Given the description of an element on the screen output the (x, y) to click on. 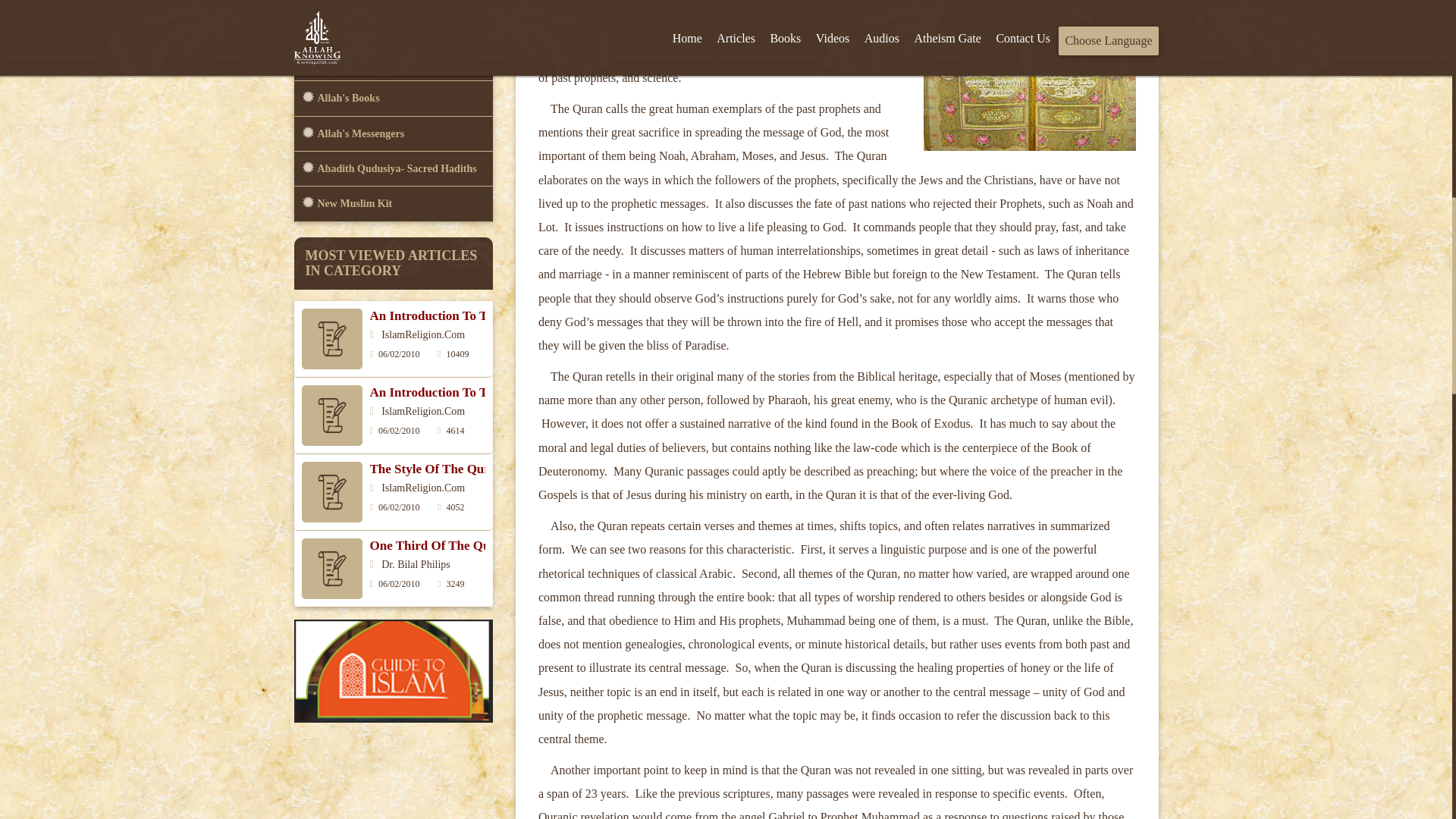
An Introduction to the Quran : Organization and Meanings (538, 315)
 One Third of the Quran (440, 545)
The Style of the Quran (436, 468)
